Given the description of an element on the screen output the (x, y) to click on. 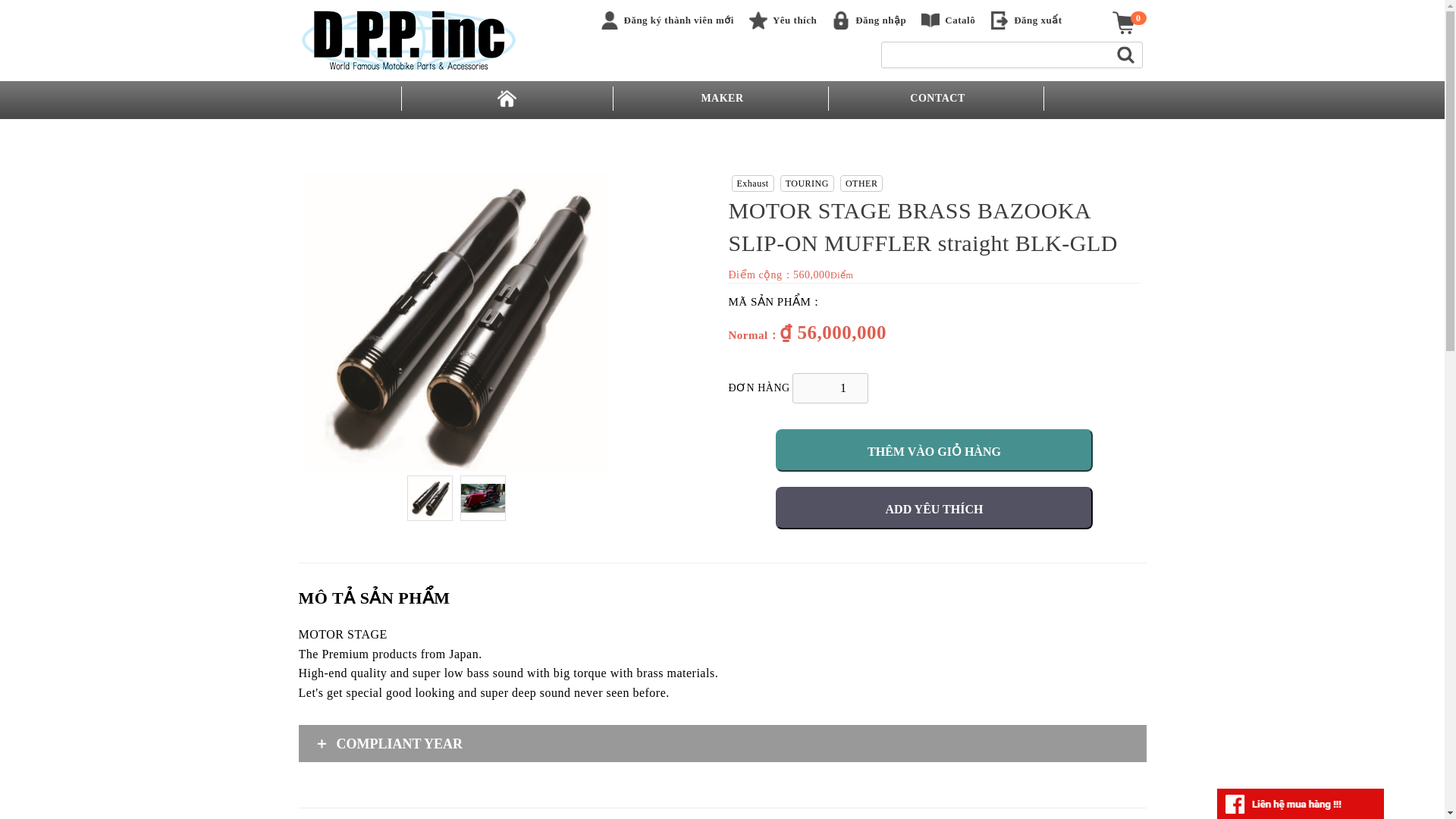
OTHER (861, 183)
MAKER (722, 97)
COMPLIANT YEAR (722, 743)
Exhaust (752, 183)
CONTACT (936, 97)
TOURING (806, 183)
1 (829, 388)
